Given the description of an element on the screen output the (x, y) to click on. 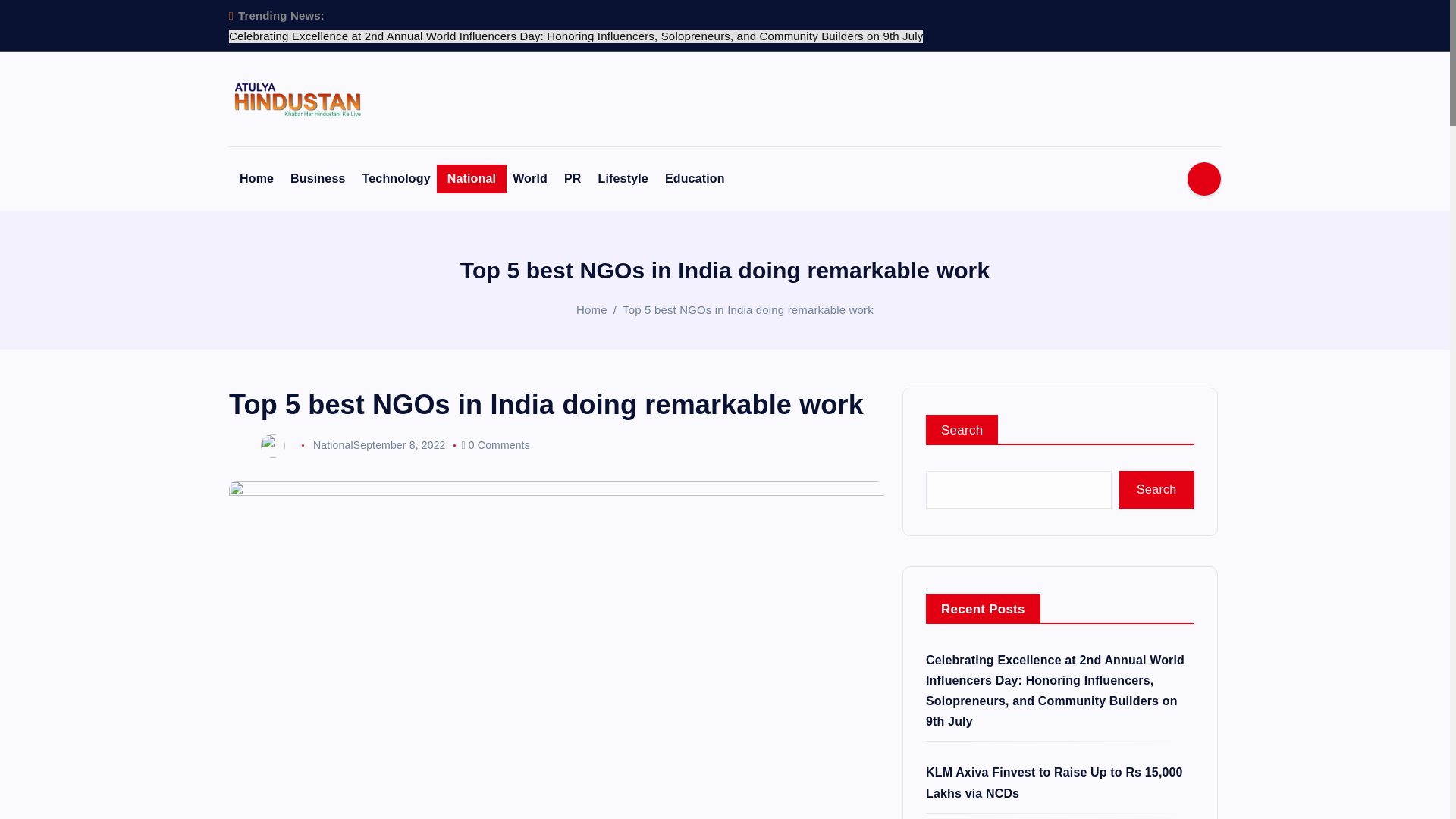
Technology (396, 178)
PR (572, 178)
Home (255, 178)
World (529, 178)
Business (317, 178)
Top 5 best NGOs in India doing remarkable work (748, 309)
Education (694, 178)
Lifestyle (623, 178)
Home (591, 309)
Business (317, 178)
Lifestyle (623, 178)
Home (255, 178)
Education (694, 178)
PR (572, 178)
World (529, 178)
